Given the description of an element on the screen output the (x, y) to click on. 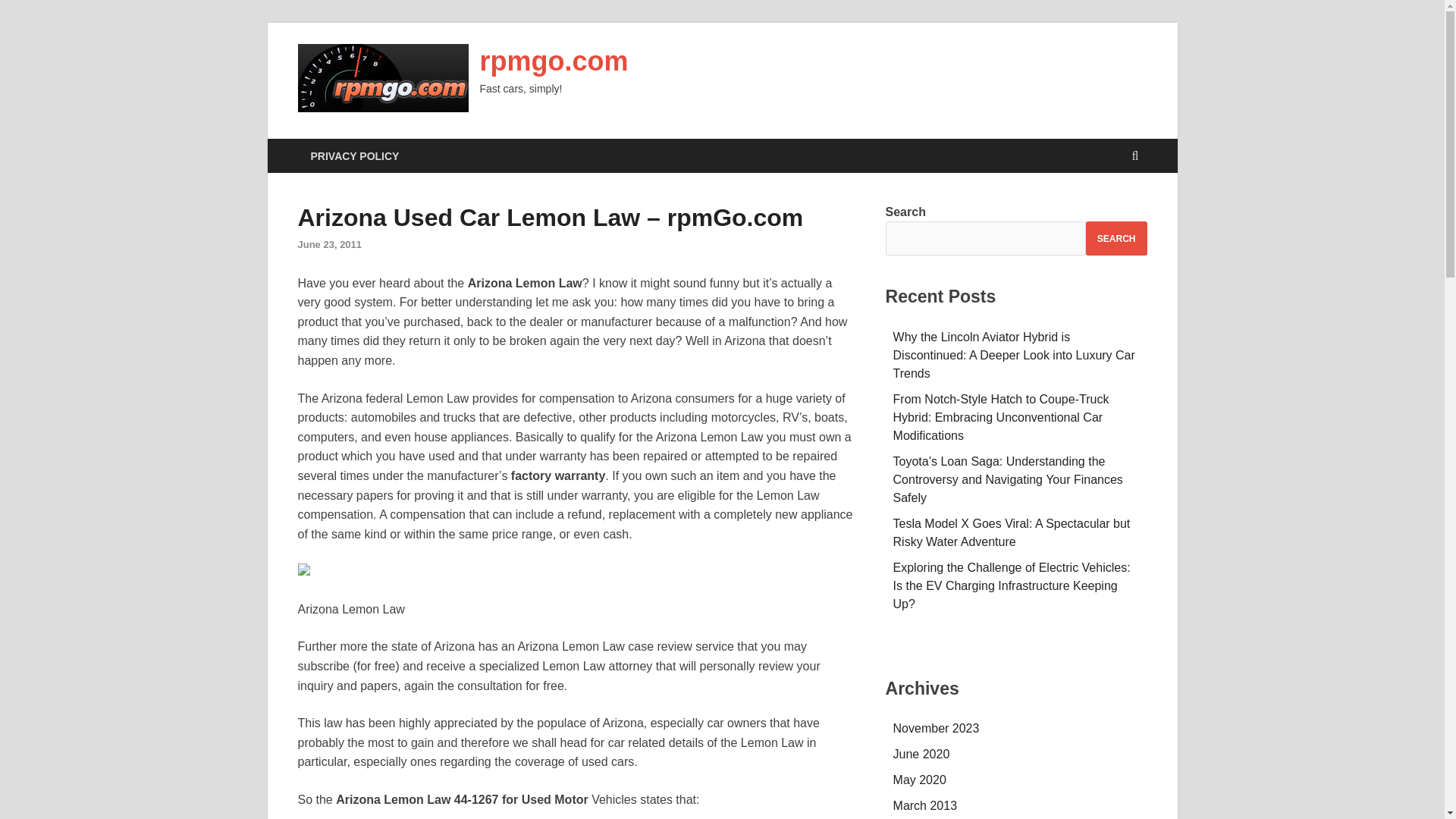
May 2020 (919, 779)
June 23, 2011 (329, 244)
rpmgo.com (553, 60)
November 2023 (936, 727)
March 2013 (925, 805)
SEARCH (1116, 238)
June 2020 (921, 753)
PRIVACY POLICY (354, 155)
